Given the description of an element on the screen output the (x, y) to click on. 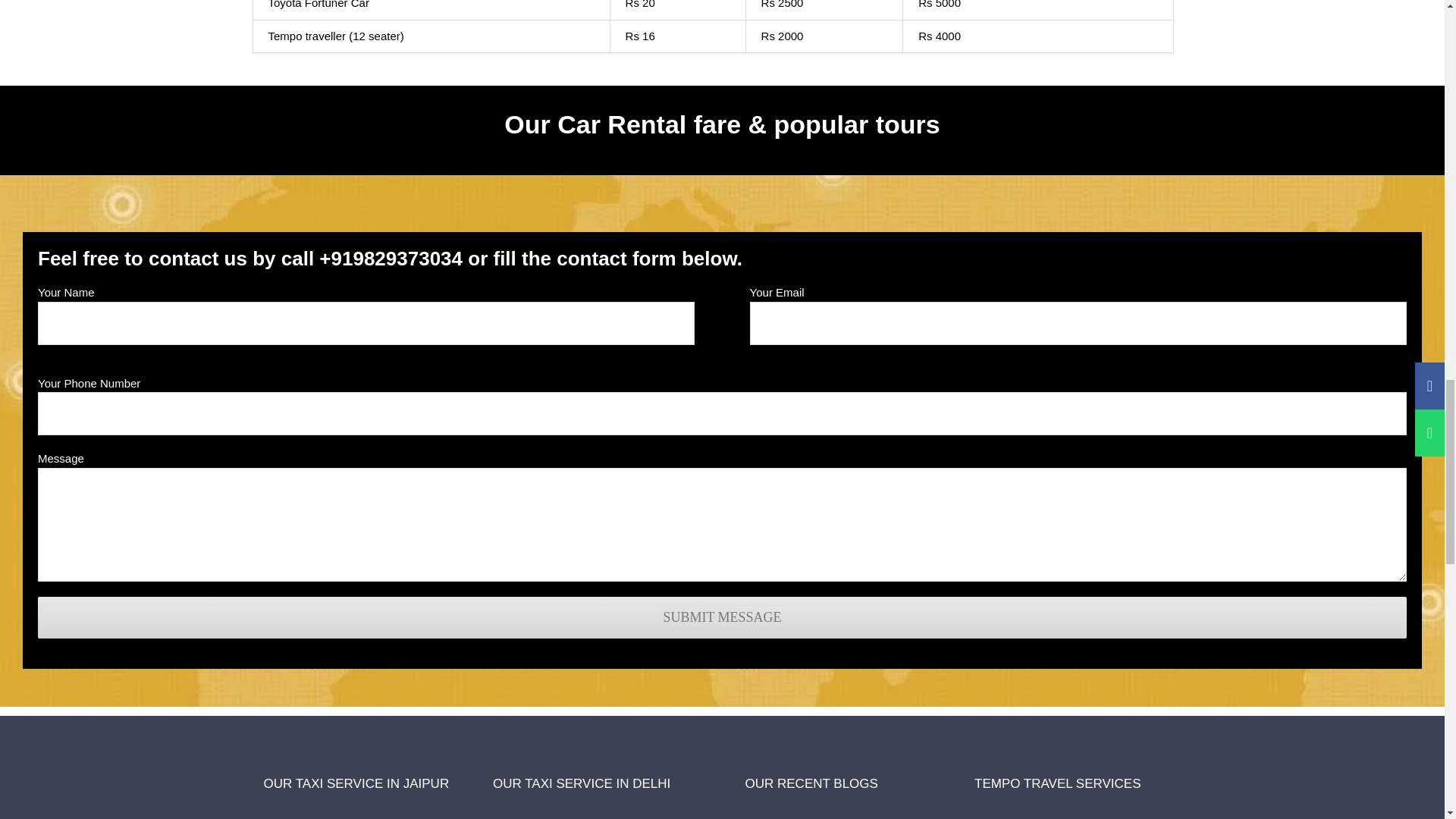
SUBMIT MESSAGE (721, 617)
